Given the description of an element on the screen output the (x, y) to click on. 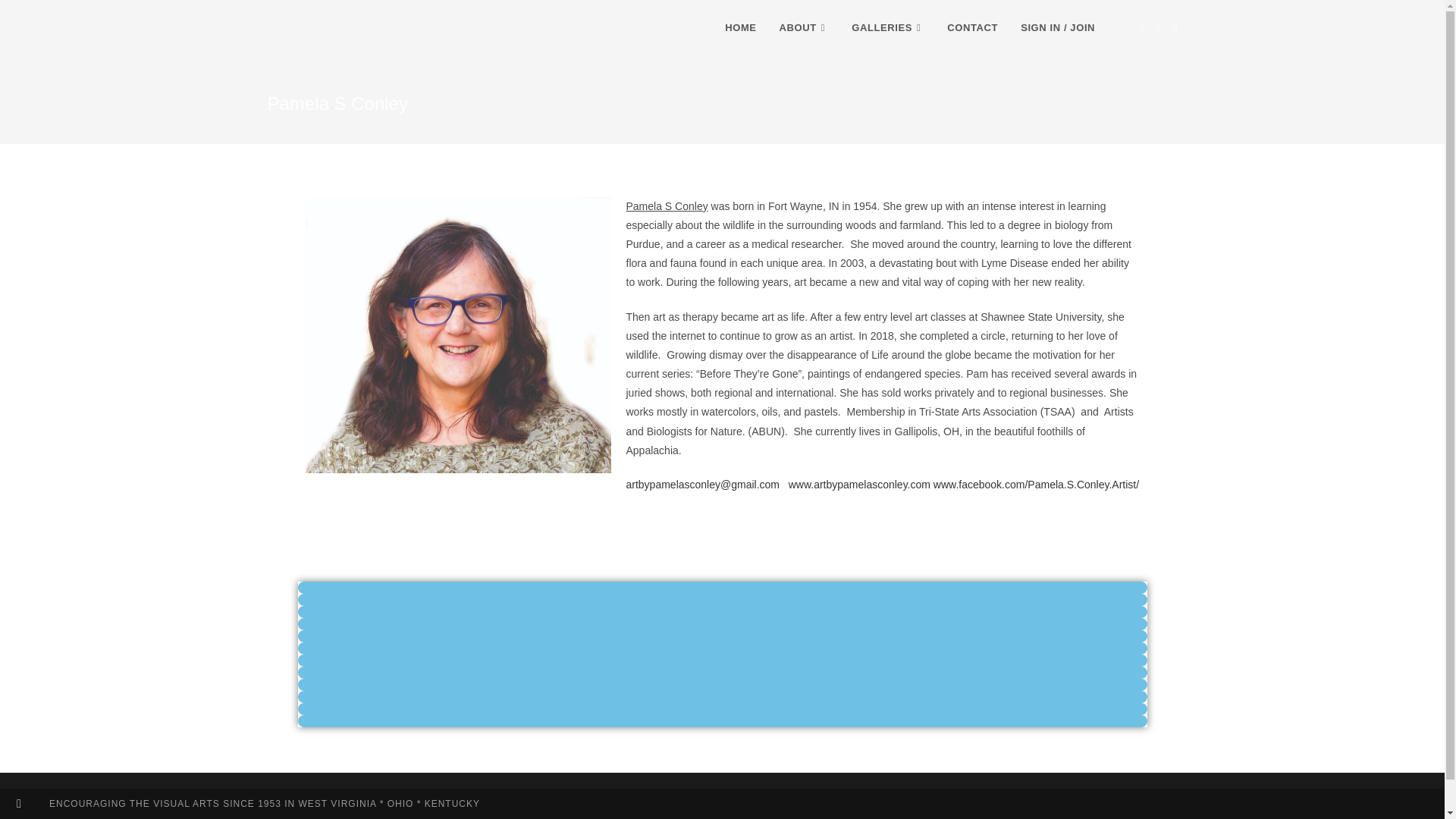
HOME (740, 28)
GALLERIES (888, 28)
www.artbypamelasconley.com (859, 484)
CONTACT (972, 28)
ABOUT (804, 28)
